Given the description of an element on the screen output the (x, y) to click on. 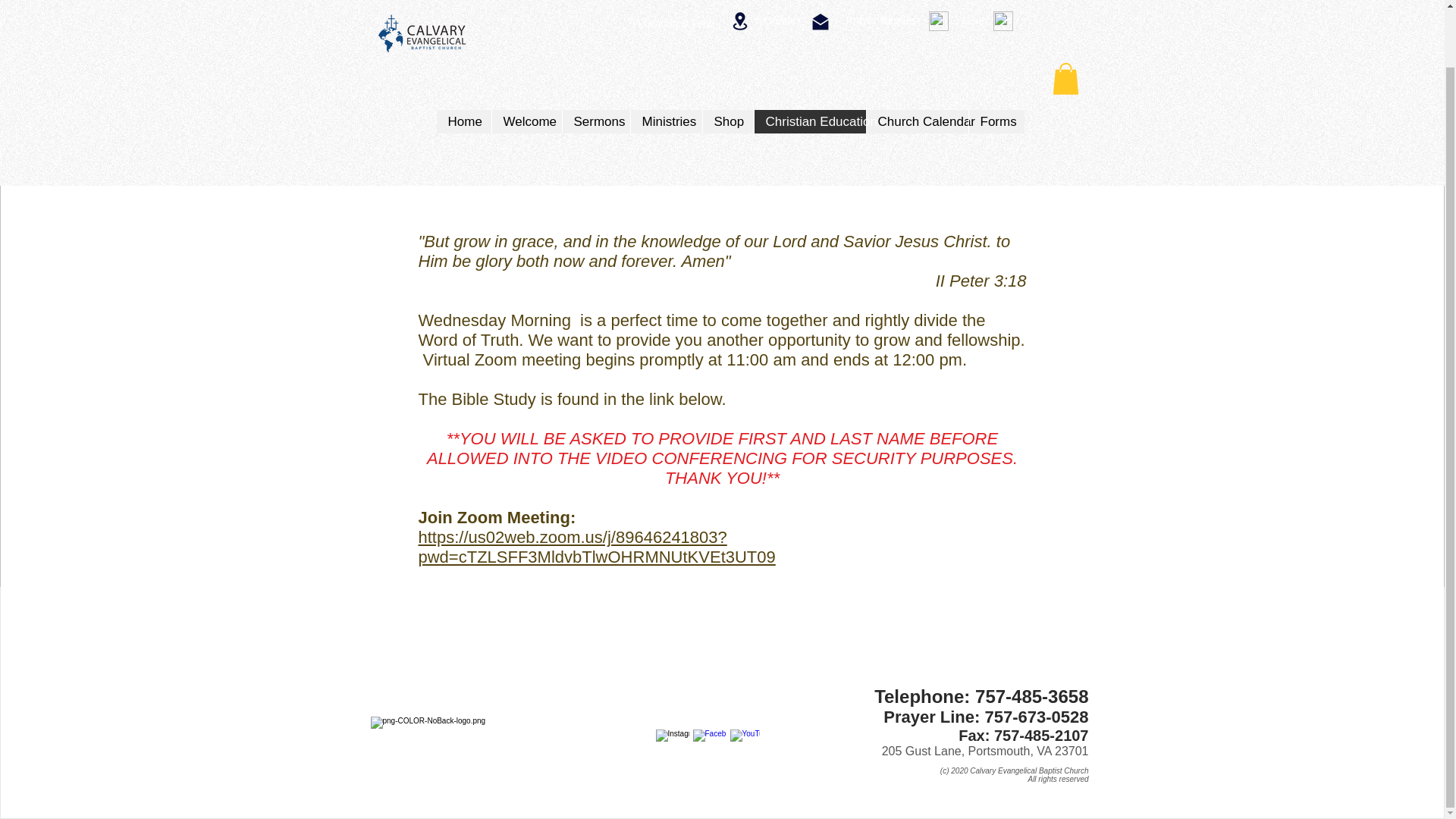
Christian Education (810, 59)
Shop (727, 59)
Sermons (594, 59)
Ministries (664, 59)
Forms (995, 59)
Welcome (527, 59)
Church Calendar (917, 59)
Home (464, 59)
